Given the description of an element on the screen output the (x, y) to click on. 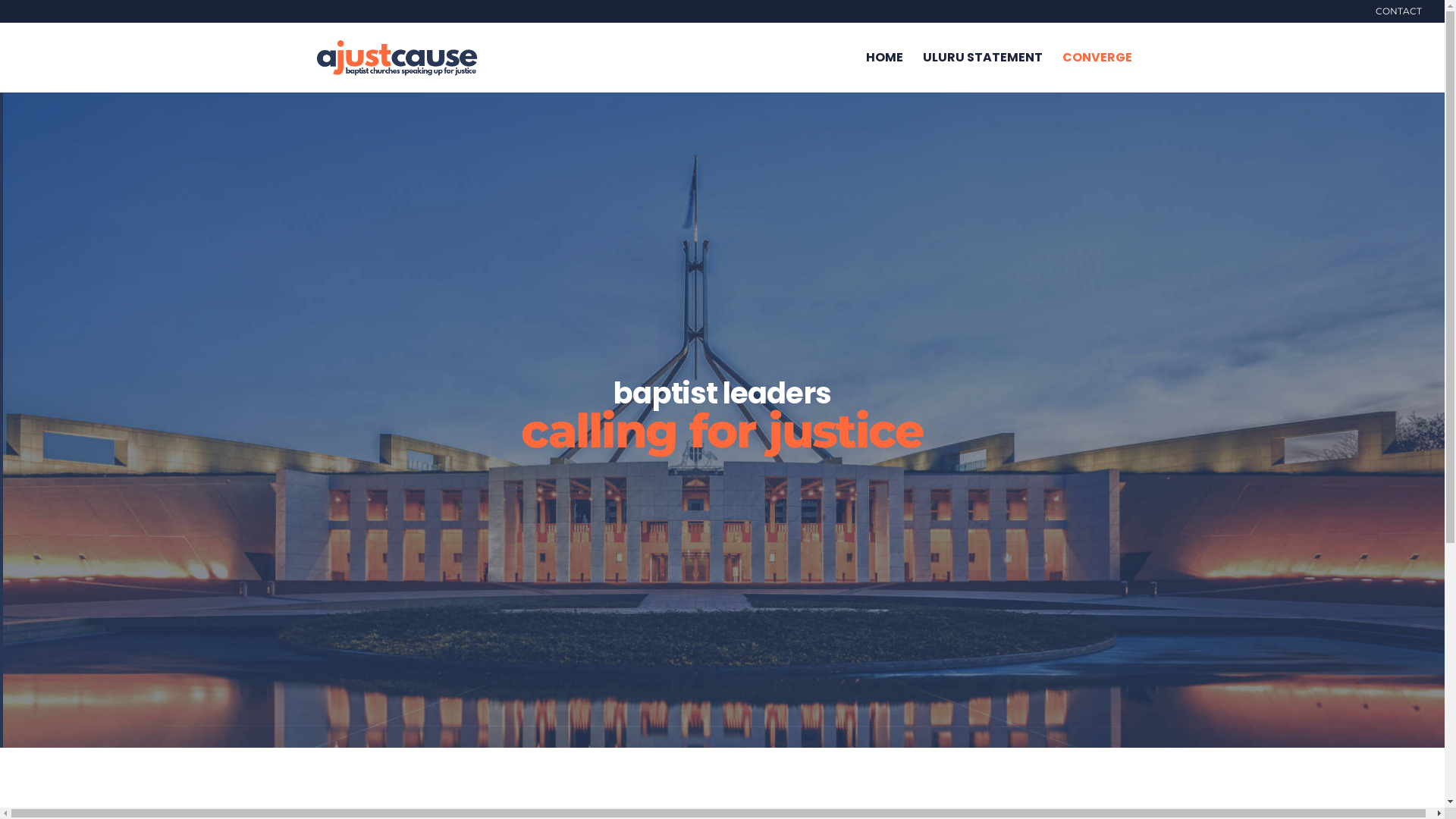
HOME Element type: text (884, 72)
CONTACT Element type: text (1398, 14)
ULURU STATEMENT Element type: text (981, 72)
CONVERGE Element type: text (1096, 72)
